Given the description of an element on the screen output the (x, y) to click on. 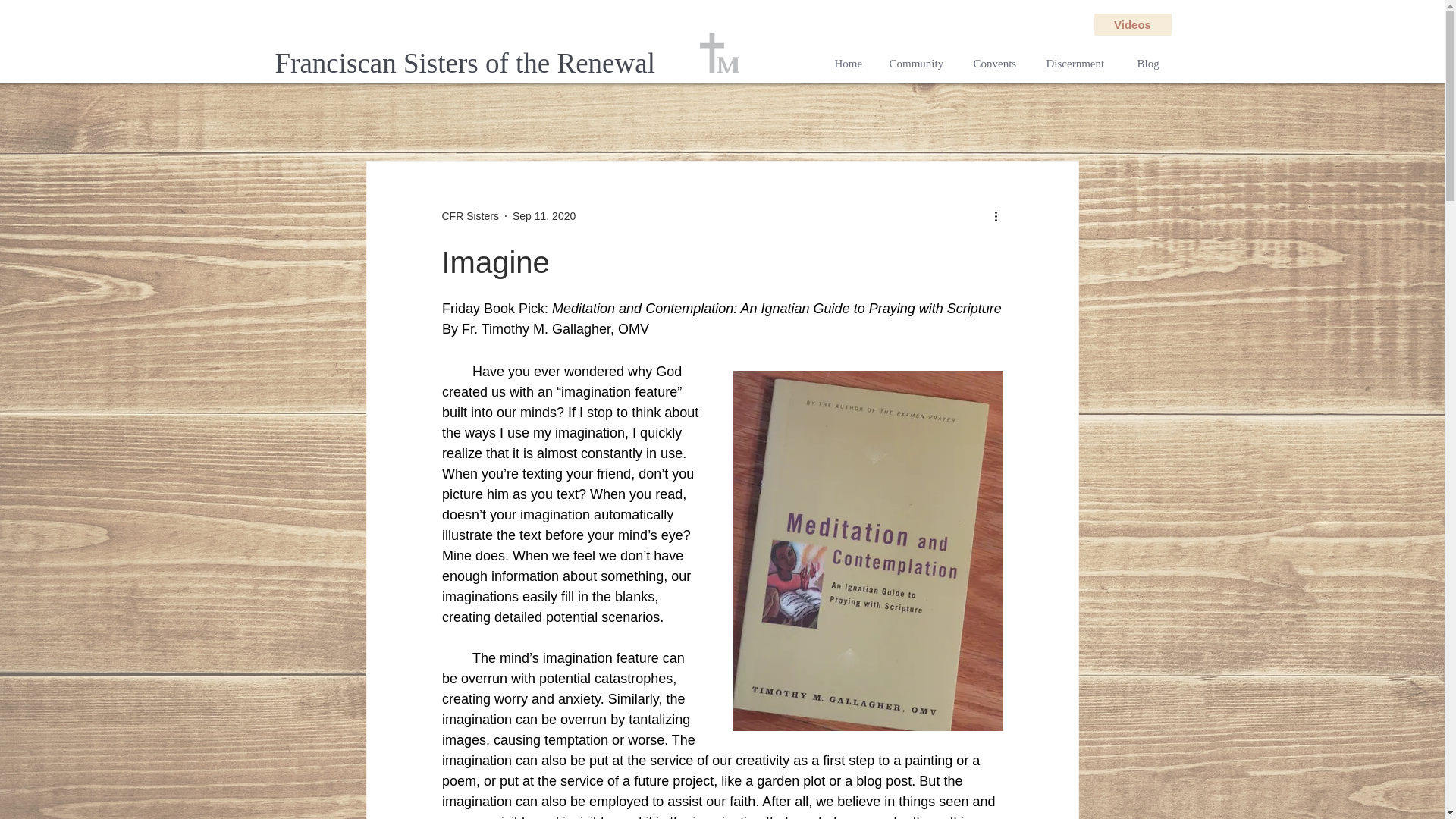
Sep 11, 2020 (543, 215)
Franciscan Sisters of the Renewal (470, 63)
Videos (1131, 24)
CFR Sisters (469, 215)
Home (850, 63)
